Given the description of an element on the screen output the (x, y) to click on. 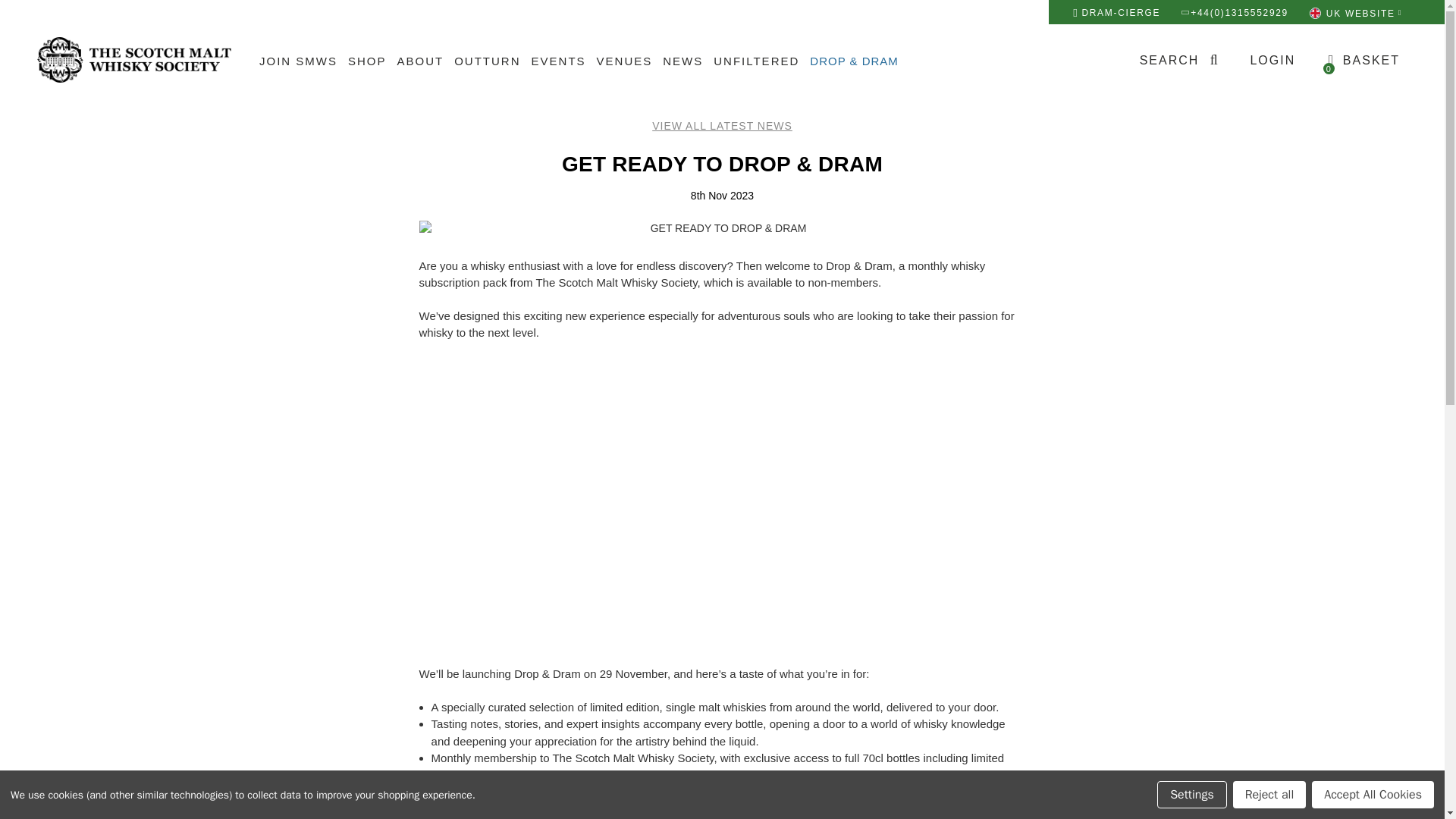
ABOUT (420, 60)
OUTTURN (1363, 60)
The Scotch Malt Whisky Society (486, 60)
SEARCH (134, 59)
LOGIN (1179, 60)
JOIN SMWS (1272, 60)
DRAM-CIERGE (297, 60)
